Given the description of an element on the screen output the (x, y) to click on. 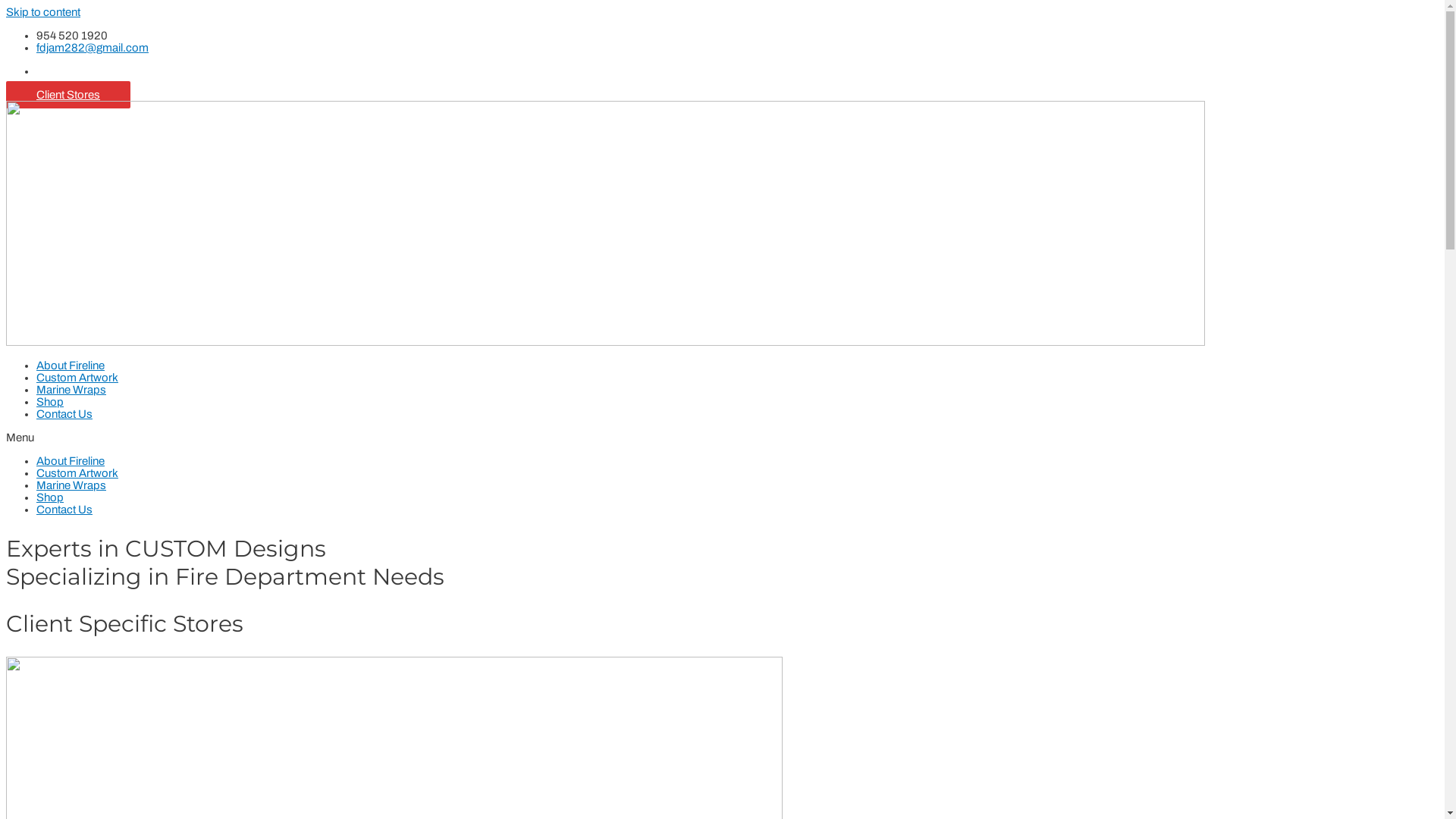
About Fireline Element type: text (70, 365)
Custom Artwork Element type: text (77, 377)
Skip to content Element type: text (43, 12)
Contact Us Element type: text (64, 509)
Shop Element type: text (49, 401)
About Fireline Element type: text (70, 461)
Custom Artwork Element type: text (77, 473)
Marine Wraps Element type: text (71, 389)
Contact Us Element type: text (64, 413)
Client Stores Element type: text (68, 94)
Shop Element type: text (49, 497)
Marine Wraps Element type: text (71, 485)
fdjam282@gmail.com Element type: text (92, 47)
